Given the description of an element on the screen output the (x, y) to click on. 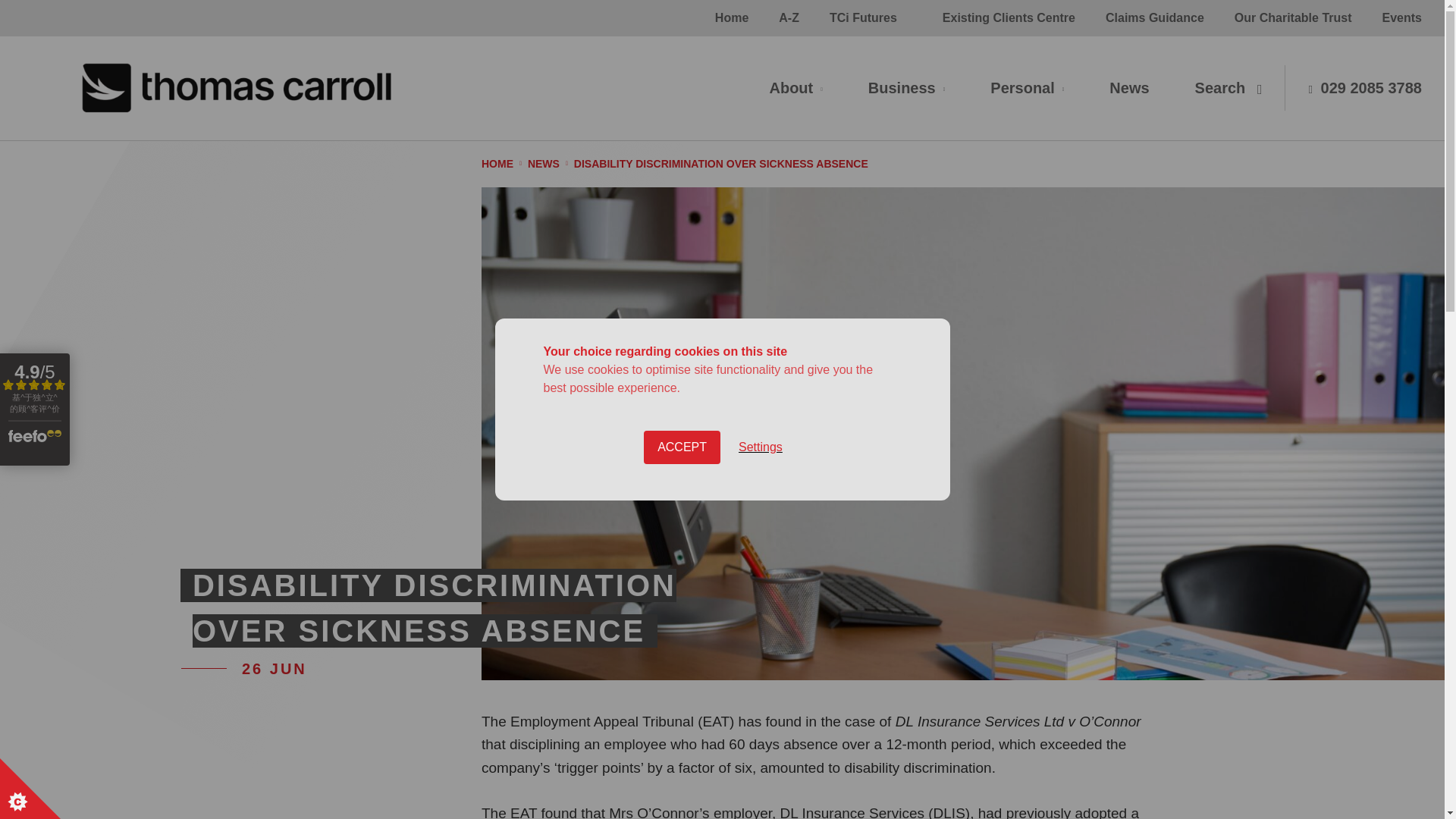
Existing Clients Centre (1008, 18)
Home (731, 18)
ACCEPT (681, 700)
Business (905, 88)
Events (1402, 18)
TCi Futures (862, 18)
A-Z (787, 18)
About (795, 88)
Claims Guidance (1155, 18)
Our Charitable Trust (1293, 18)
Settings (760, 683)
